Given the description of an element on the screen output the (x, y) to click on. 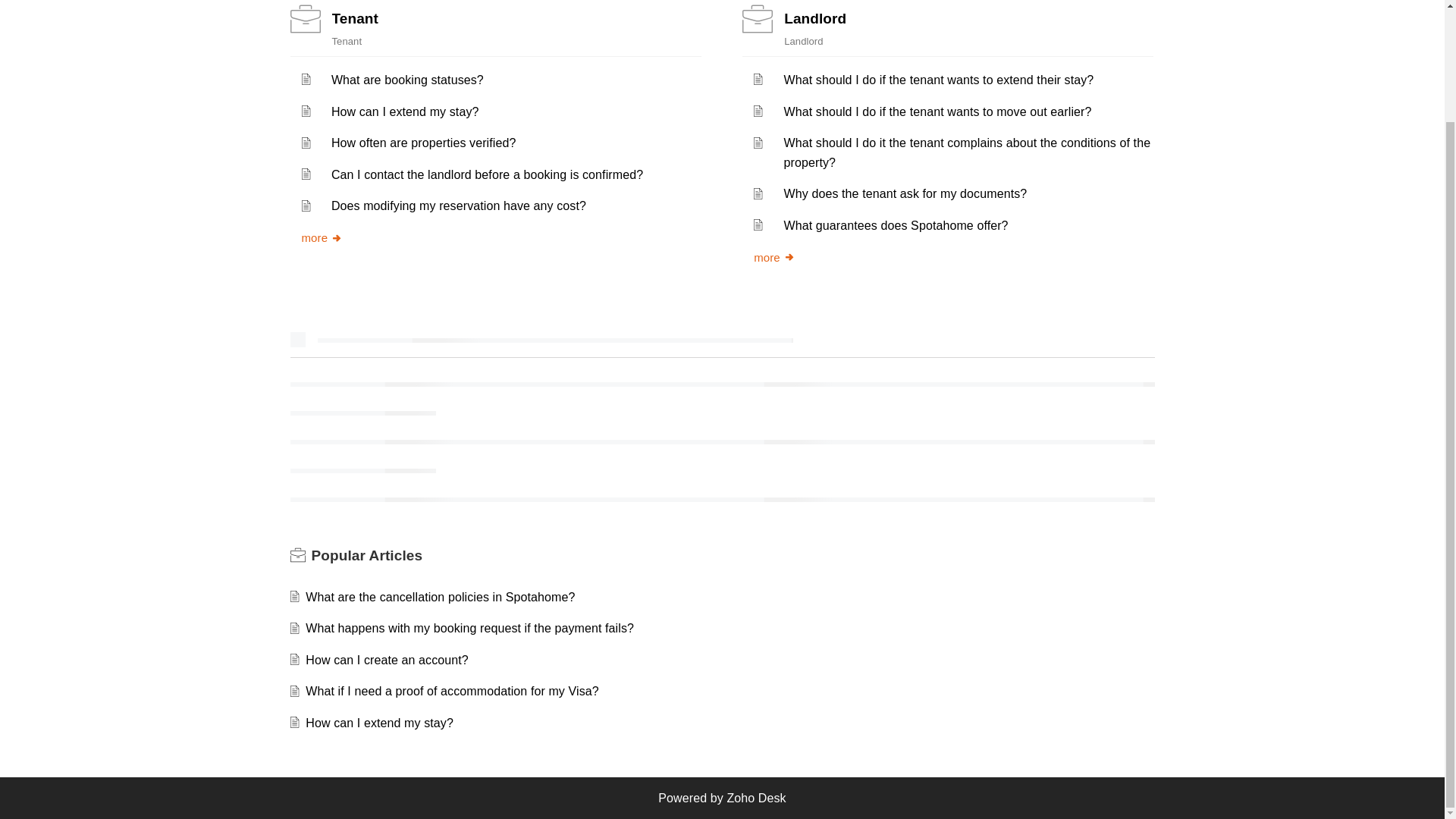
Landlord (814, 18)
How can I extend my stay? (378, 722)
What should I do if the tenant wants to extend their stay? (939, 79)
more (322, 237)
How often are properties verified? (423, 142)
What should I do if the tenant wants to move out earlier? (938, 111)
What are the cancellation policies in Spotahome? (440, 596)
Can I contact the landlord before a booking is confirmed? (487, 174)
What are booking statuses? (407, 79)
How can I create an account? (386, 659)
What should I do if the tenant  wants to extend their stay? (939, 79)
What guarantees does Spotahome offer? (896, 225)
What should I do if the tenant wants to move out earlier? (938, 111)
